Given the description of an element on the screen output the (x, y) to click on. 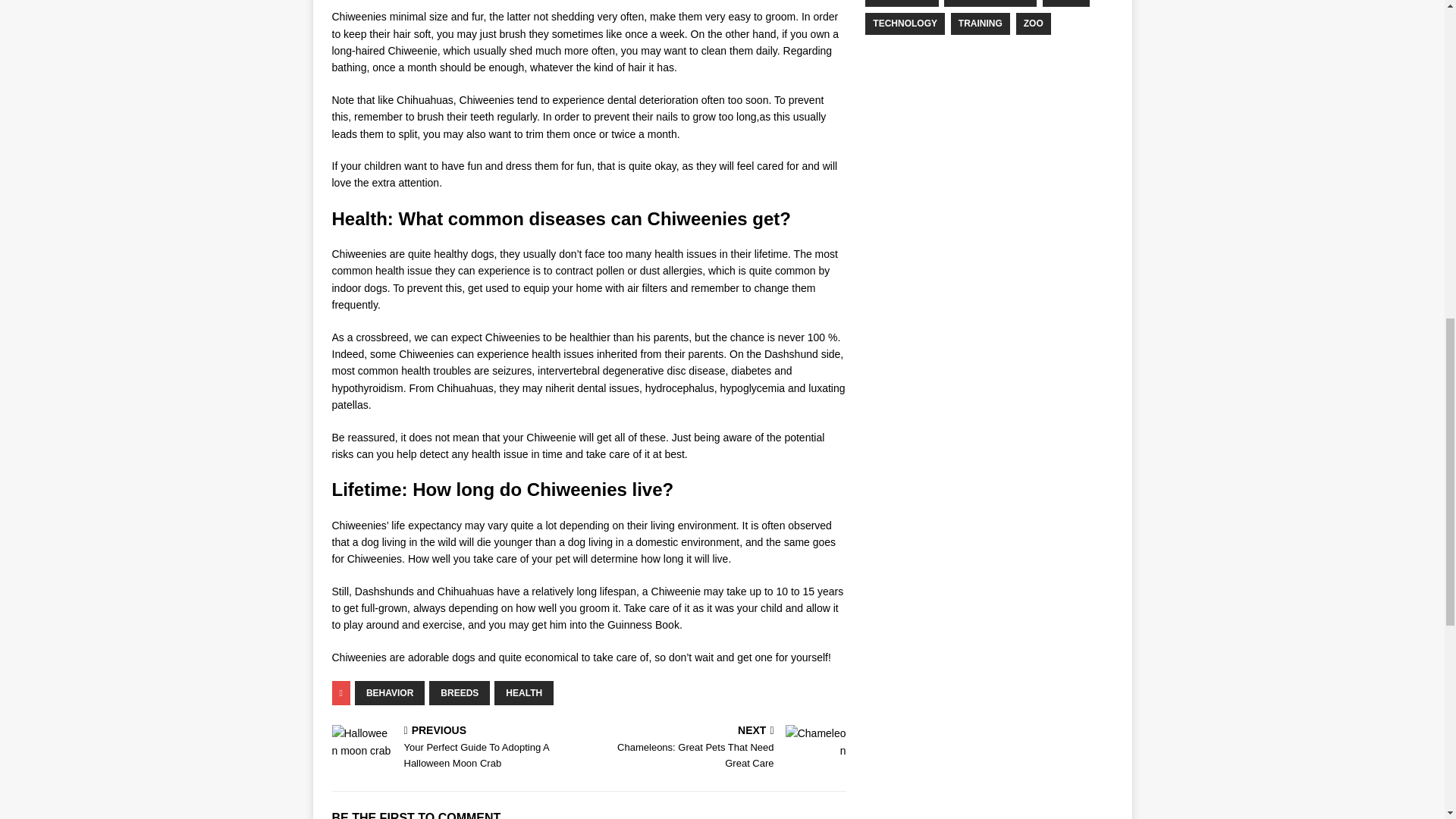
HEALTH (524, 692)
BREEDS (720, 748)
BEHAVIOR (459, 692)
